Given the description of an element on the screen output the (x, y) to click on. 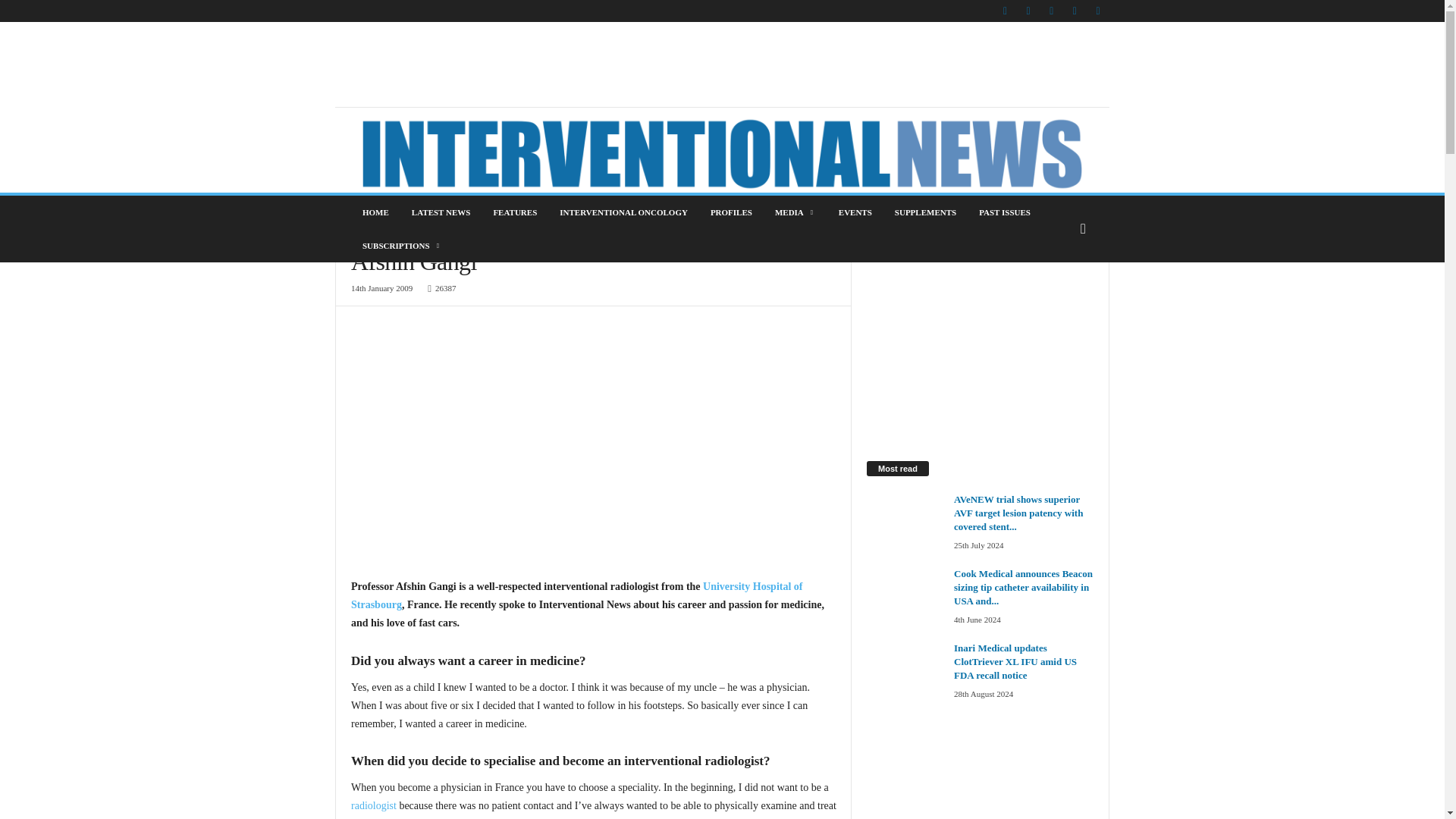
SUPPLEMENTS (925, 212)
HOME (375, 212)
FEATURES (514, 212)
PAST ISSUES (1005, 212)
MEDIA (794, 212)
INTERVENTIONAL ONCOLOGY (623, 212)
Interventional News (722, 153)
LATEST NEWS (440, 212)
EVENTS (855, 212)
PROFILES (730, 212)
